Given the description of an element on the screen output the (x, y) to click on. 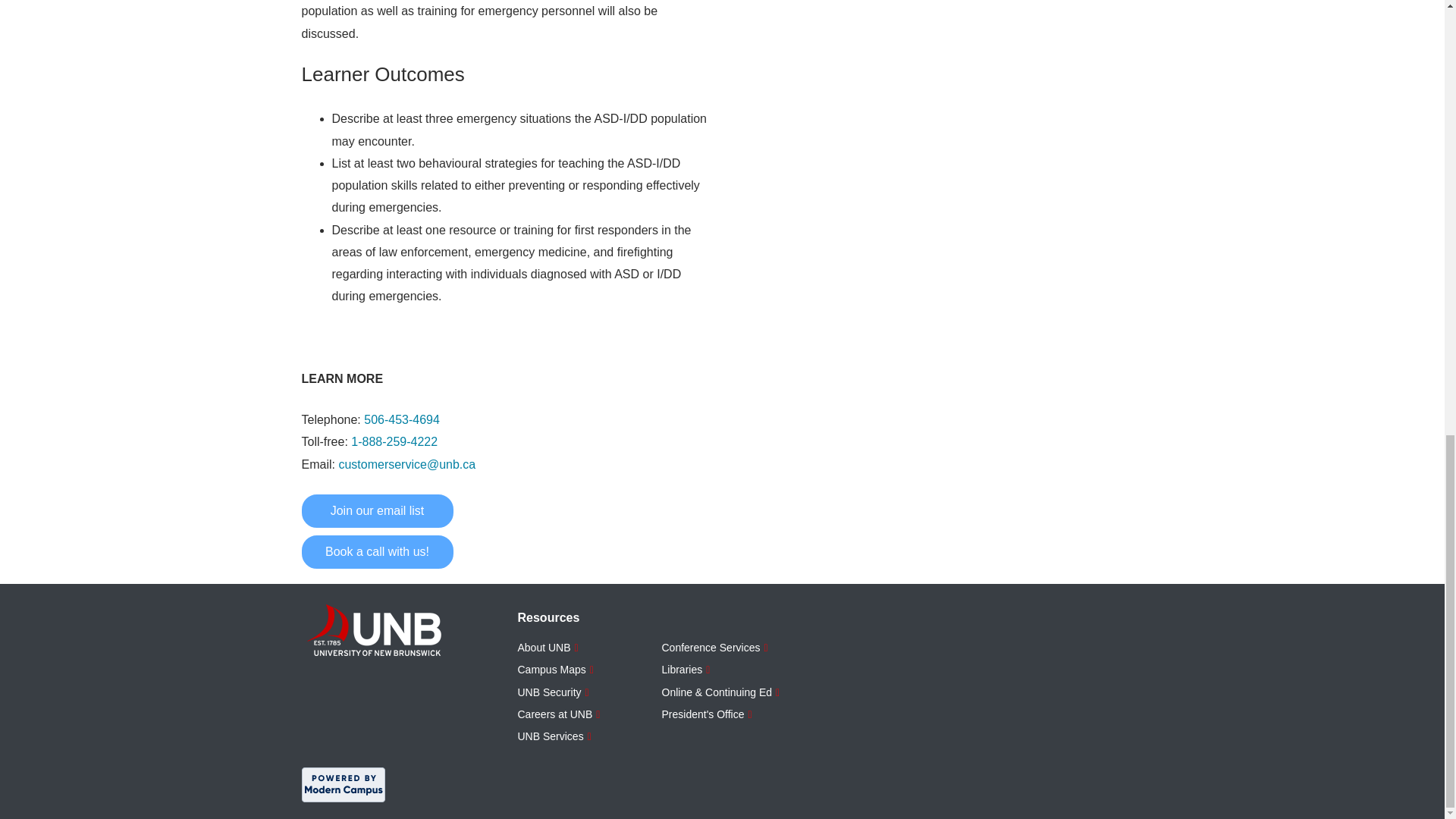
506-453-4694 (401, 419)
Join our email list (376, 510)
Powered by Lifelong Learning EE (343, 784)
1-888-259-4222 (394, 440)
